Given the description of an element on the screen output the (x, y) to click on. 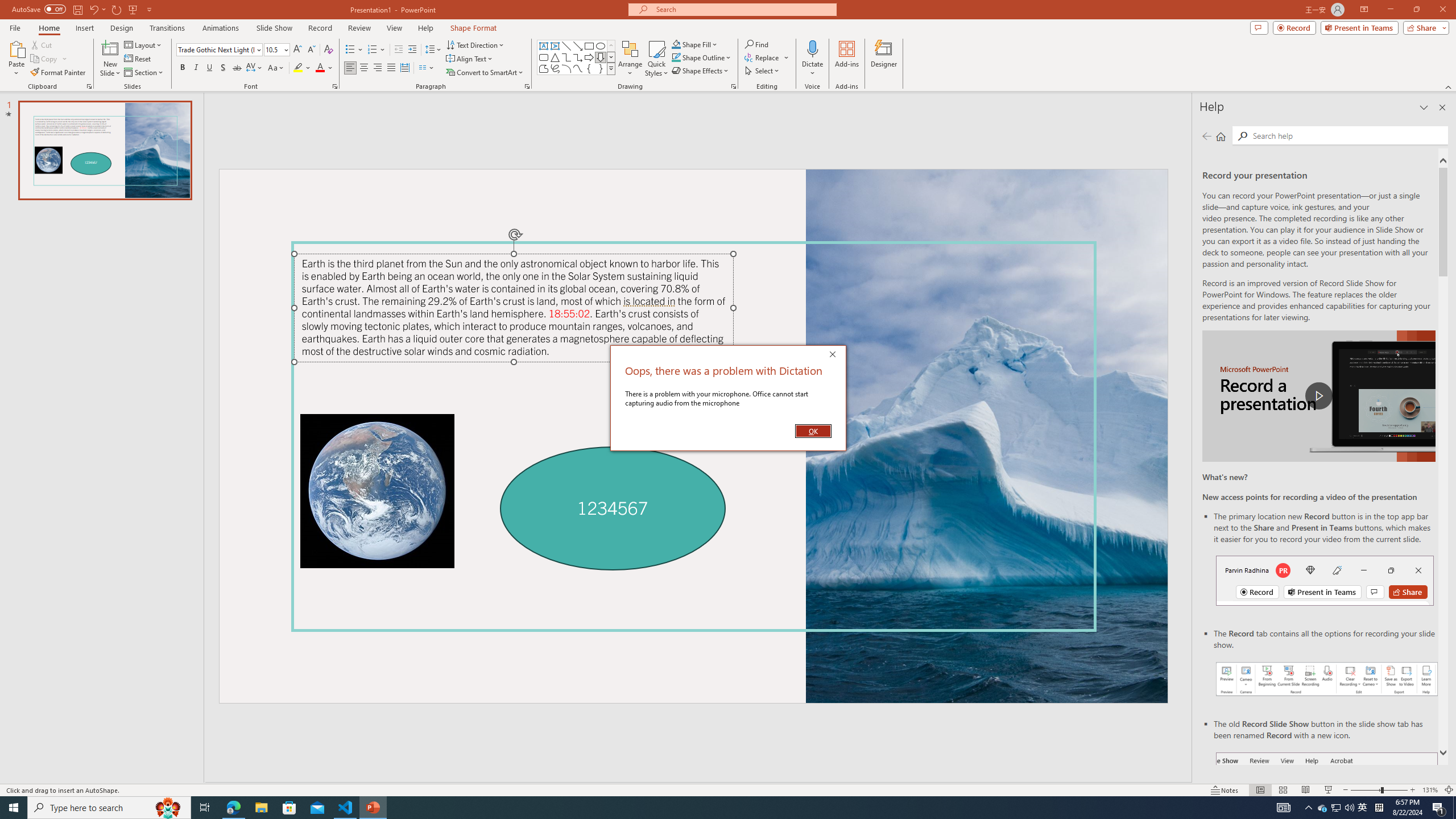
Shape Effects (1322, 807)
